Given the description of an element on the screen output the (x, y) to click on. 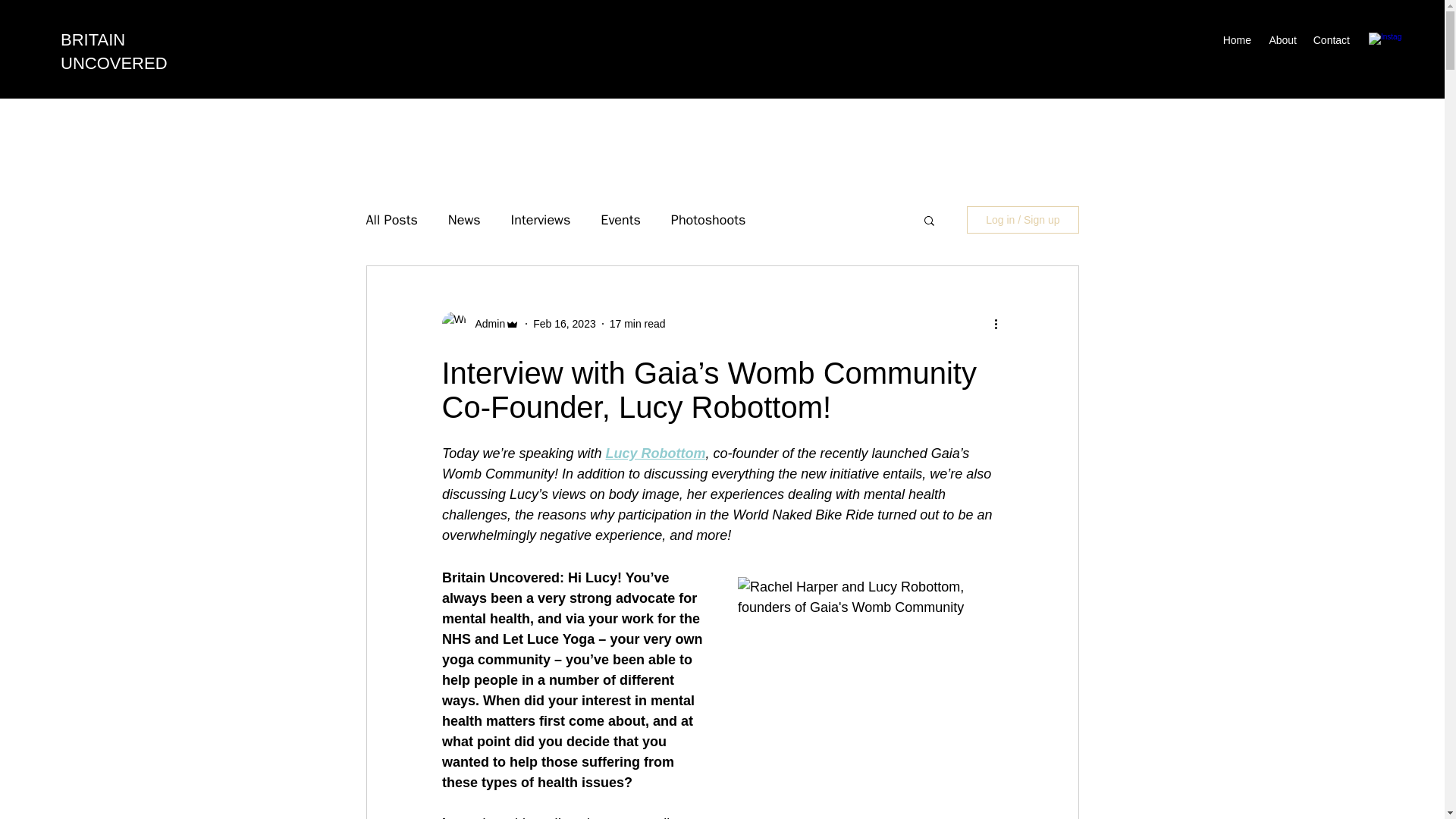
Admin (485, 324)
Events (619, 219)
17 min read (637, 323)
Lucy Robottom (654, 453)
All Posts (390, 219)
BRITAIN UNCOVERED (114, 51)
Feb 16, 2023 (563, 323)
About (1281, 39)
News (464, 219)
Interviews (540, 219)
Contact (1330, 39)
Home (1236, 39)
Photoshoots (708, 219)
